Given the description of an element on the screen output the (x, y) to click on. 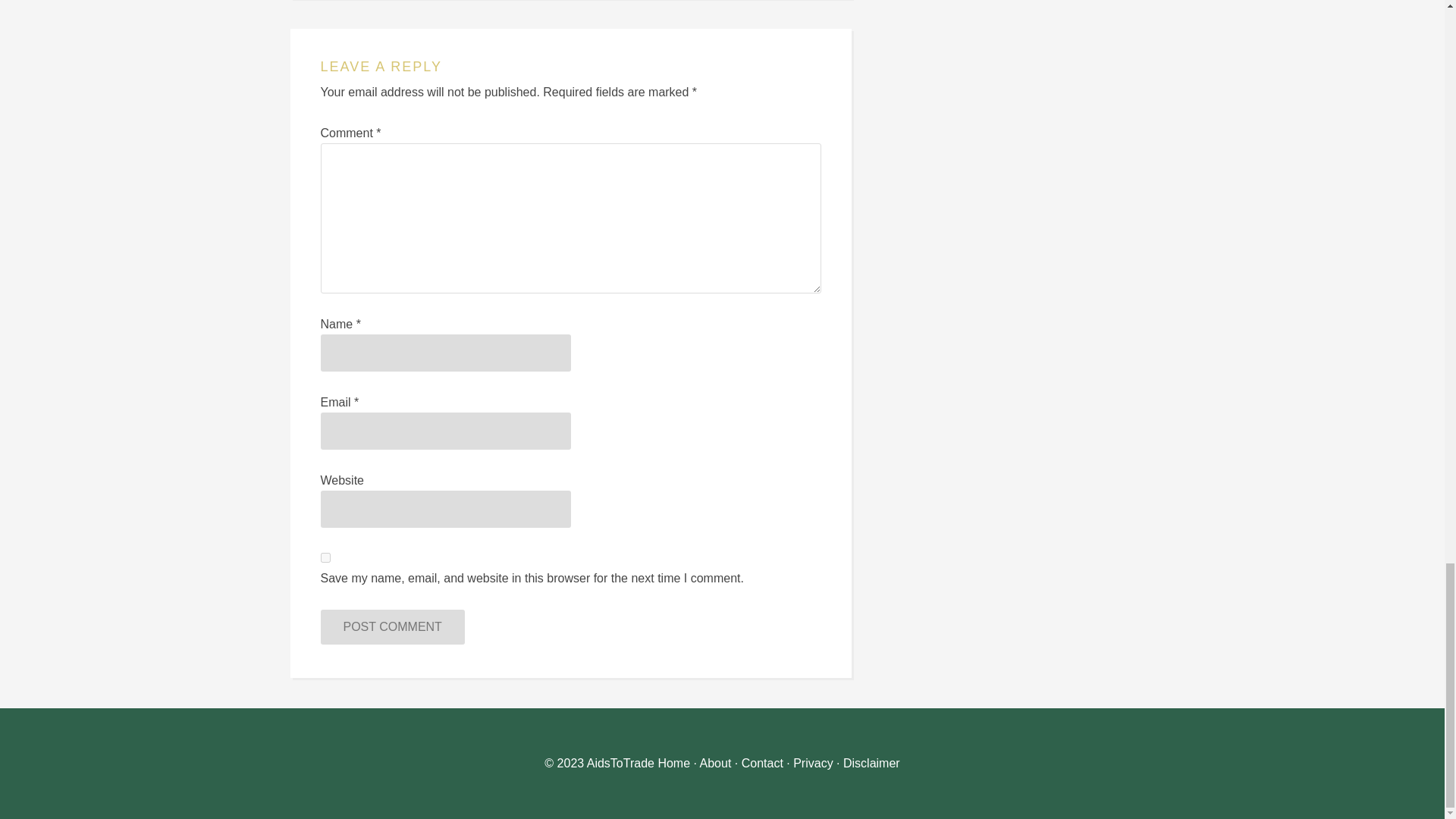
Post Comment (392, 626)
yes (325, 557)
